Given the description of an element on the screen output the (x, y) to click on. 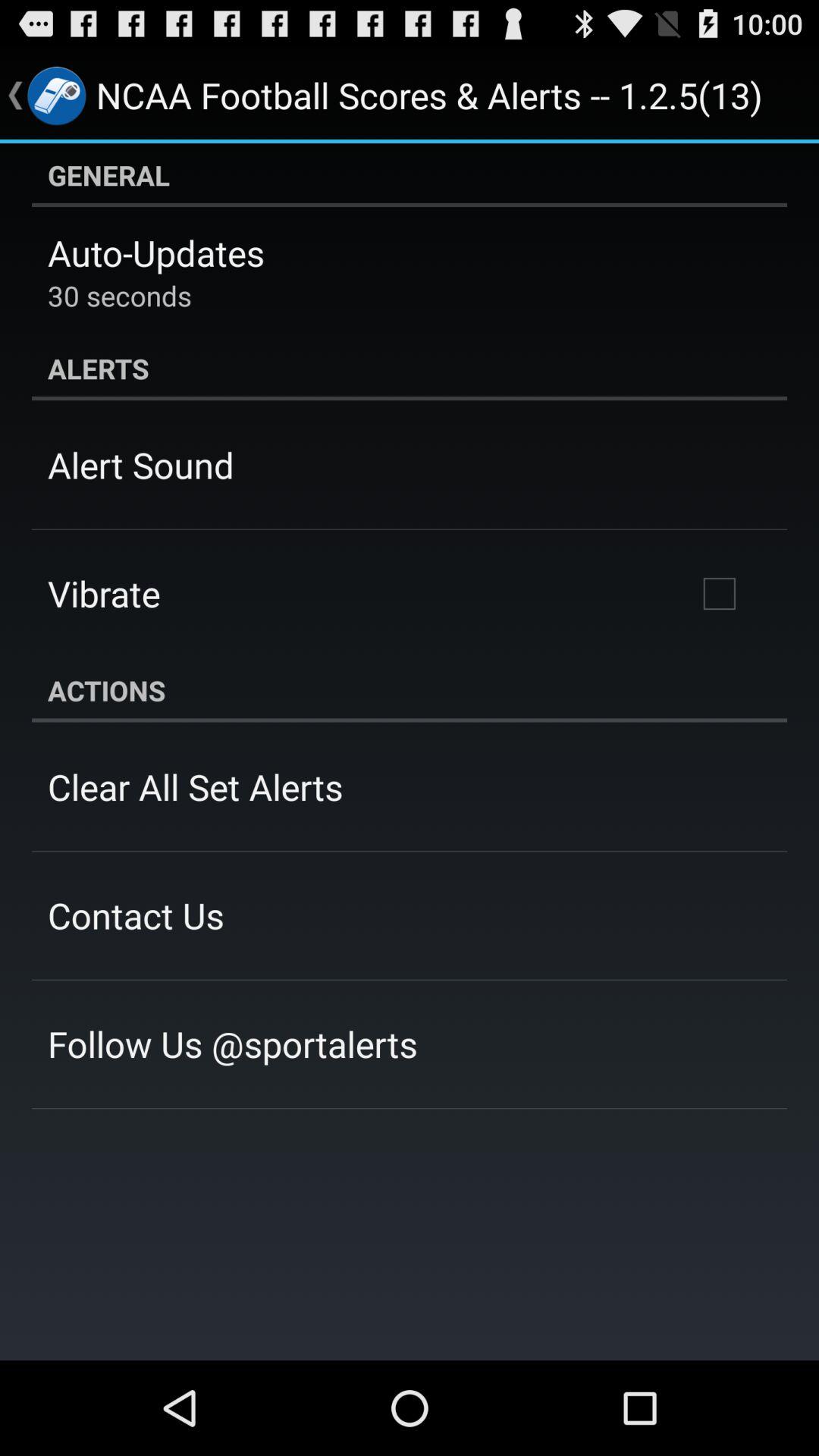
swipe until the follow us @sportalerts icon (232, 1043)
